Given the description of an element on the screen output the (x, y) to click on. 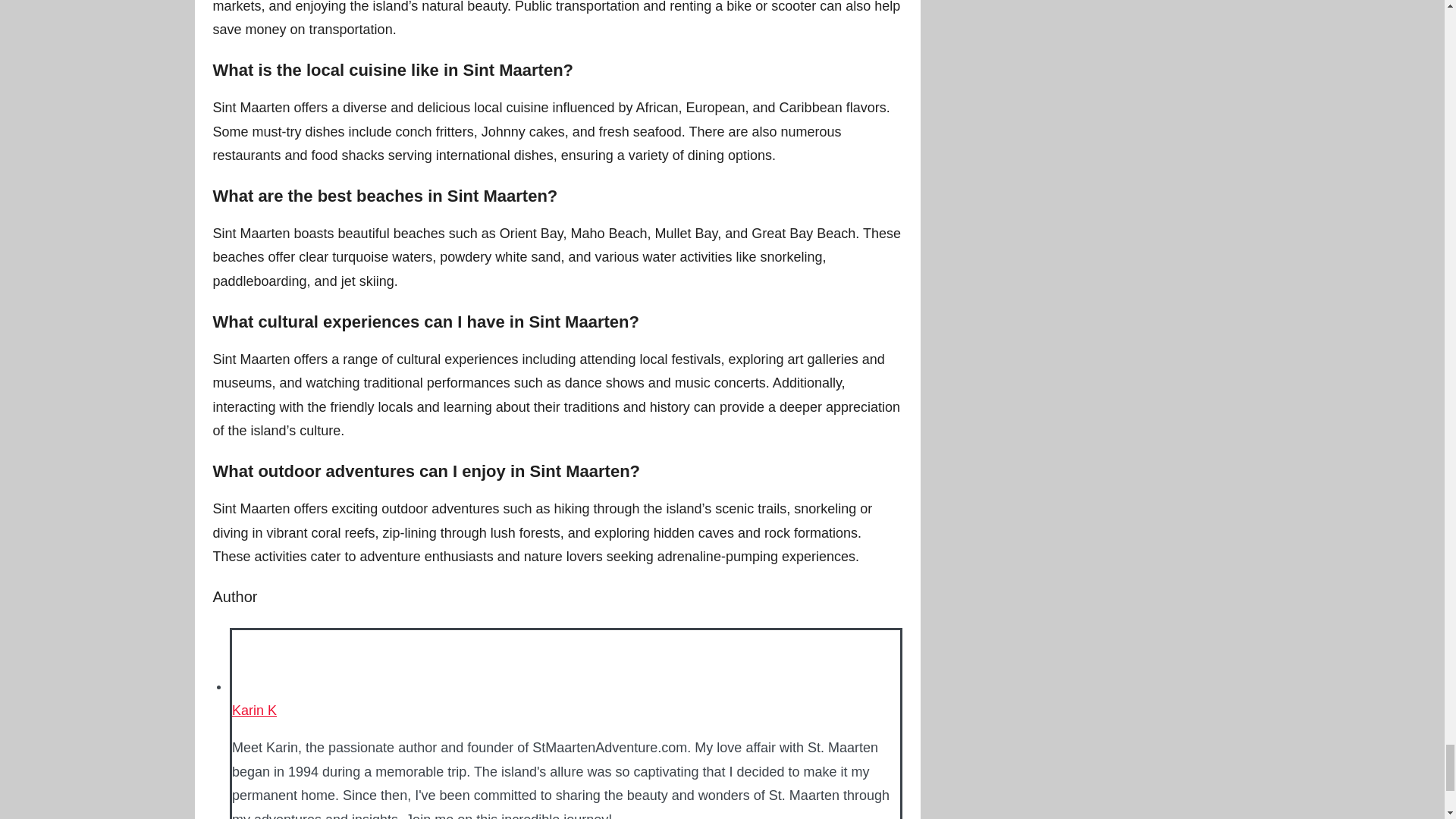
Karin K (253, 709)
